Given the description of an element on the screen output the (x, y) to click on. 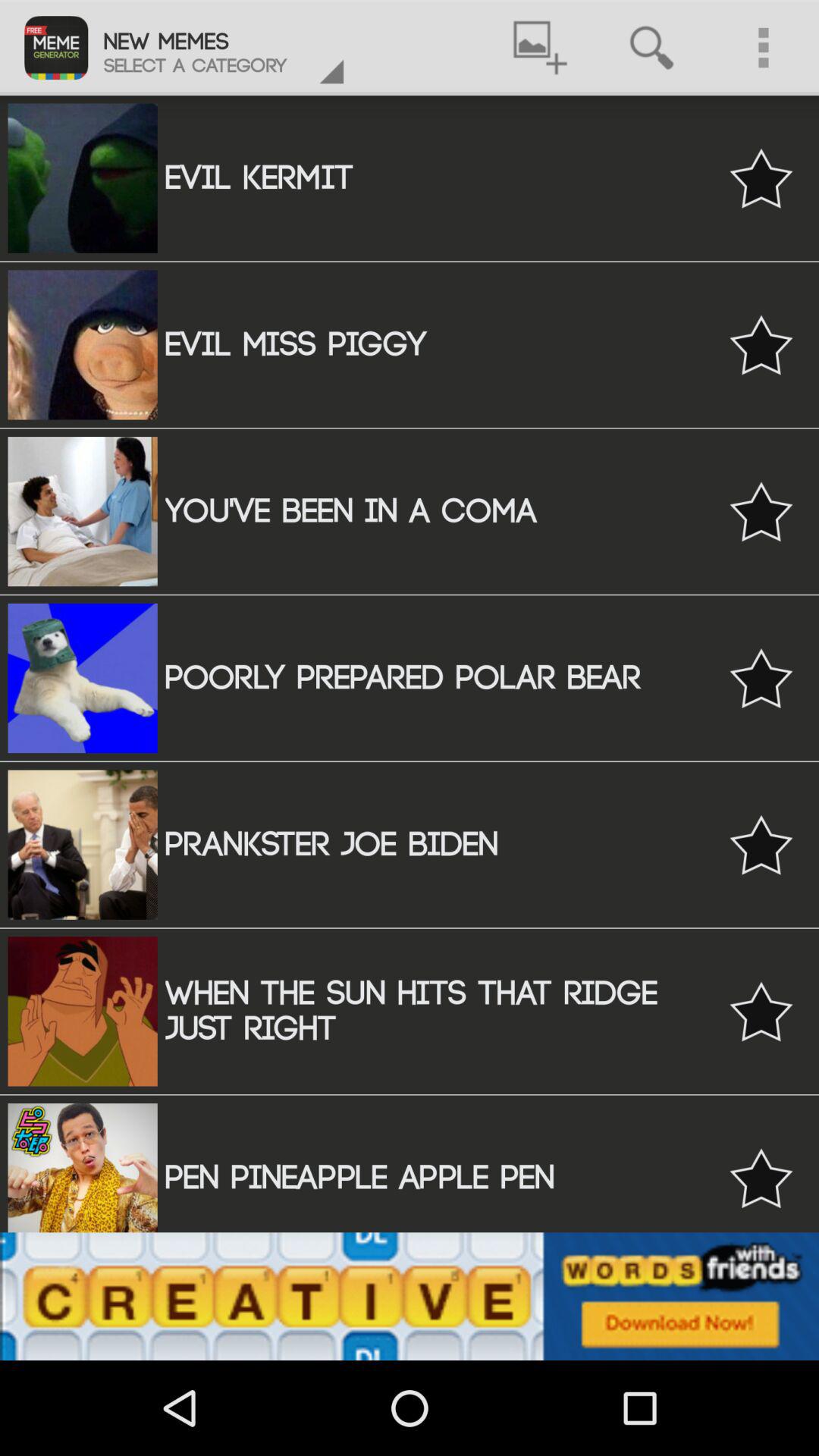
mark evil kermit as favorite (761, 178)
